Given the description of an element on the screen output the (x, y) to click on. 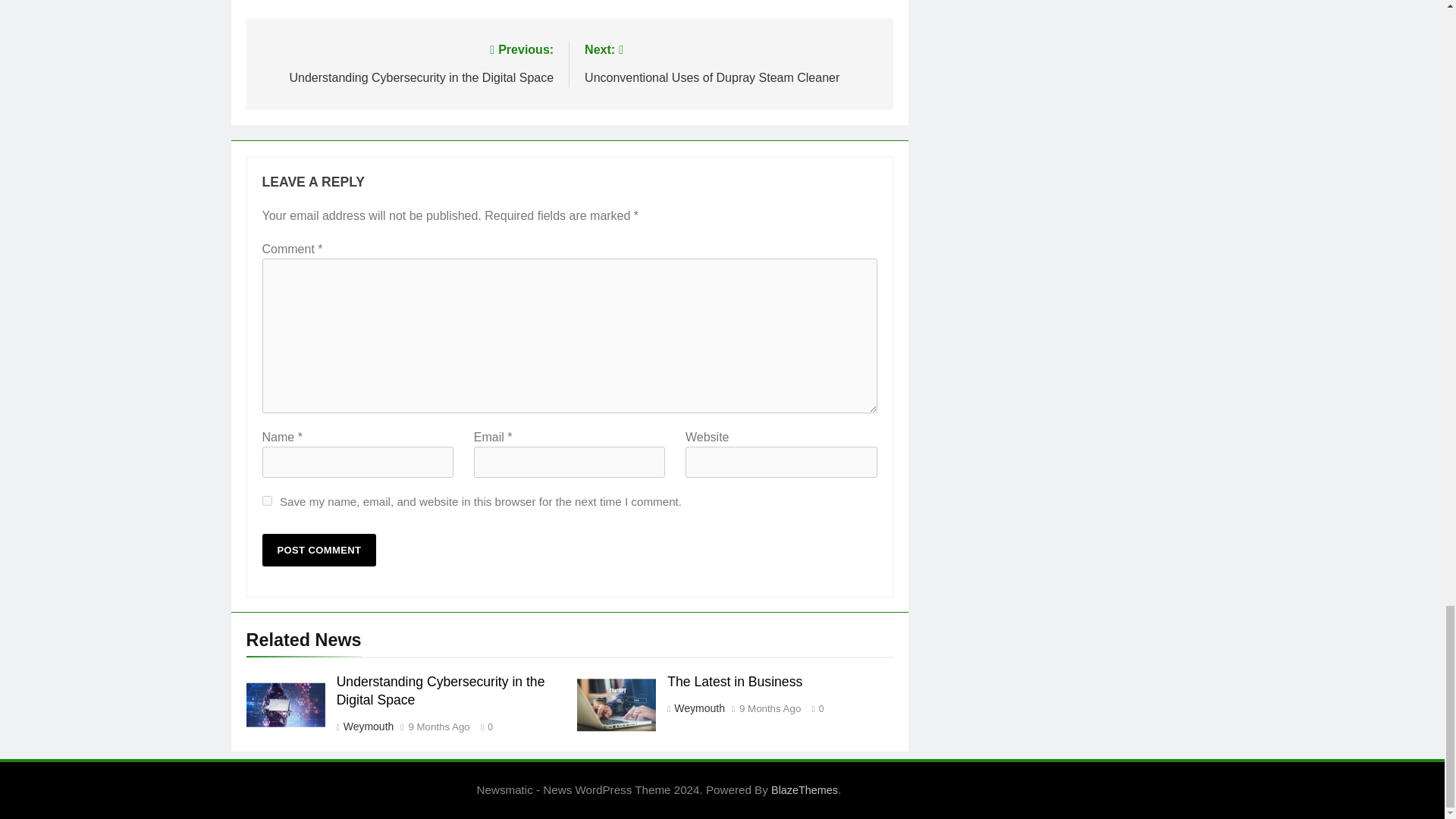
yes (267, 501)
Post Comment (319, 549)
